Given the description of an element on the screen output the (x, y) to click on. 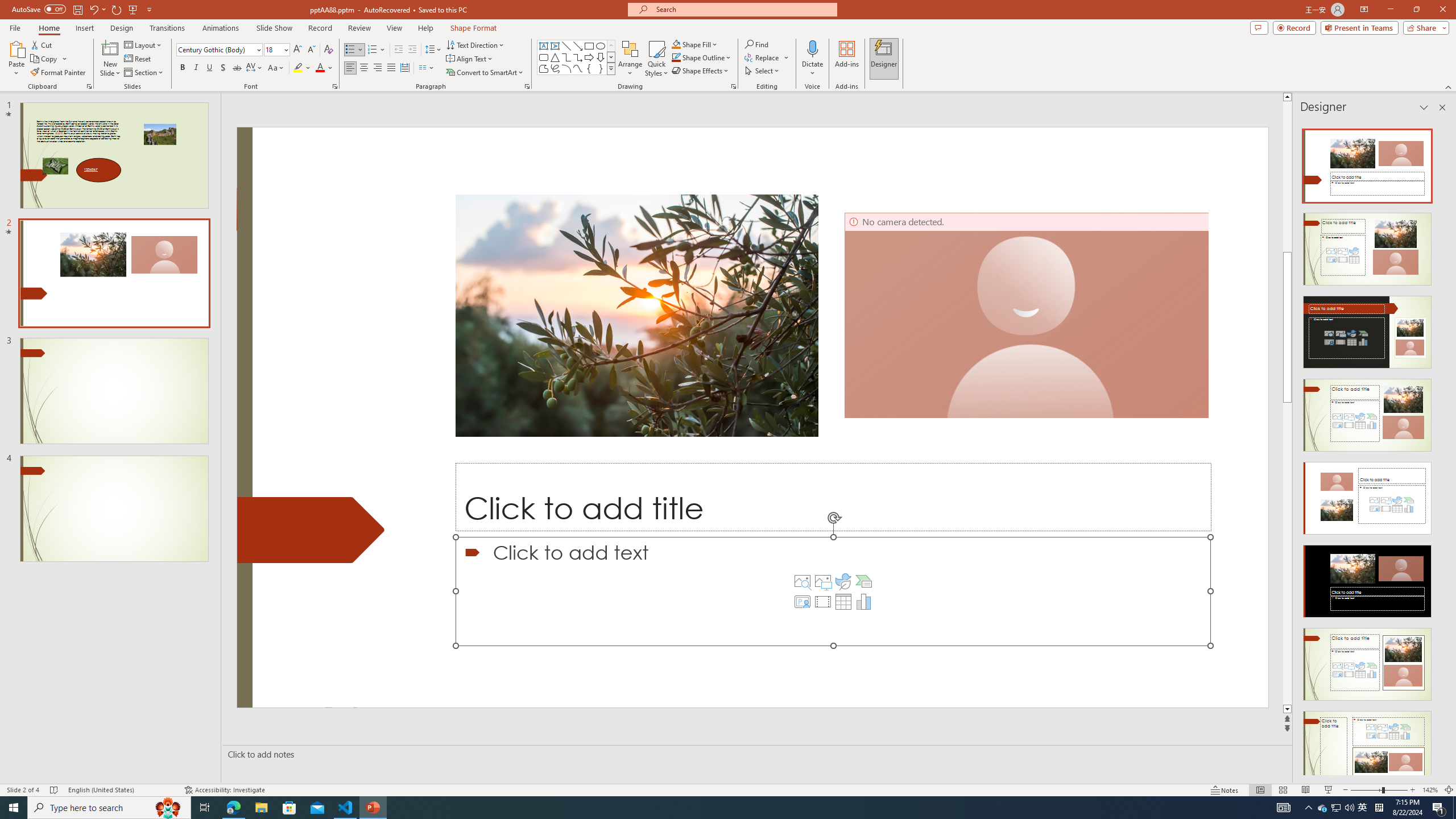
Text Highlight Color Yellow (297, 67)
Line (566, 45)
Paste (16, 58)
Bullets (354, 49)
Align Left (349, 67)
Office Clipboard... (88, 85)
Line Spacing (433, 49)
Rectangle (589, 45)
Right Brace (600, 68)
Font Color Red (320, 67)
Class: NetUIScrollBar (1441, 447)
Insert Cameo (801, 601)
Replace... (767, 56)
Zoom 142% (1430, 790)
